Given the description of an element on the screen output the (x, y) to click on. 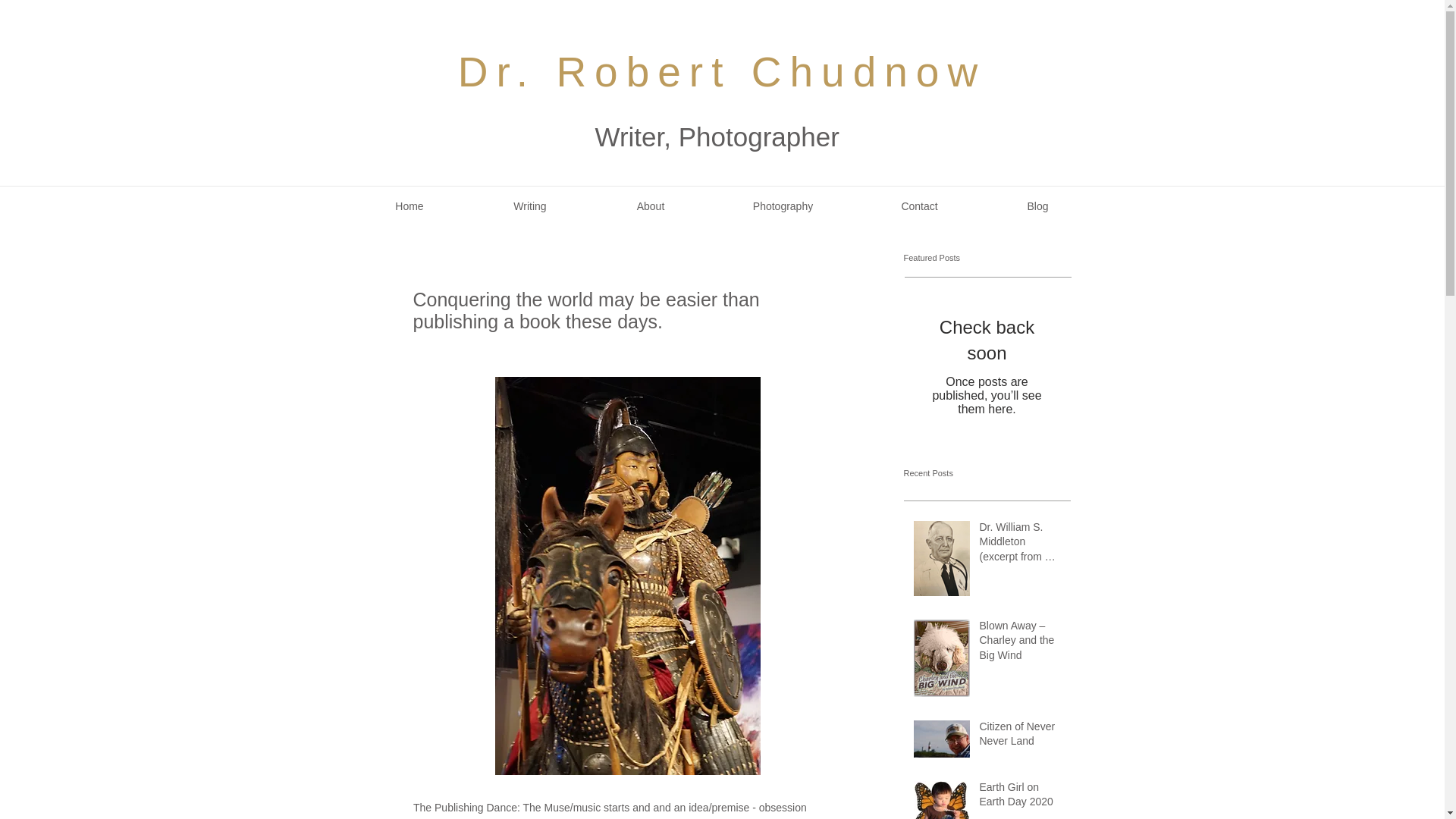
Citizen of Never Never Land (1020, 737)
Home (408, 206)
About (650, 206)
Writing (530, 206)
Dr. Robert  (604, 71)
Contact (919, 206)
Earth Girl on Earth Day 2020 (1020, 797)
Photography (783, 206)
Blog (1037, 206)
